Given the description of an element on the screen output the (x, y) to click on. 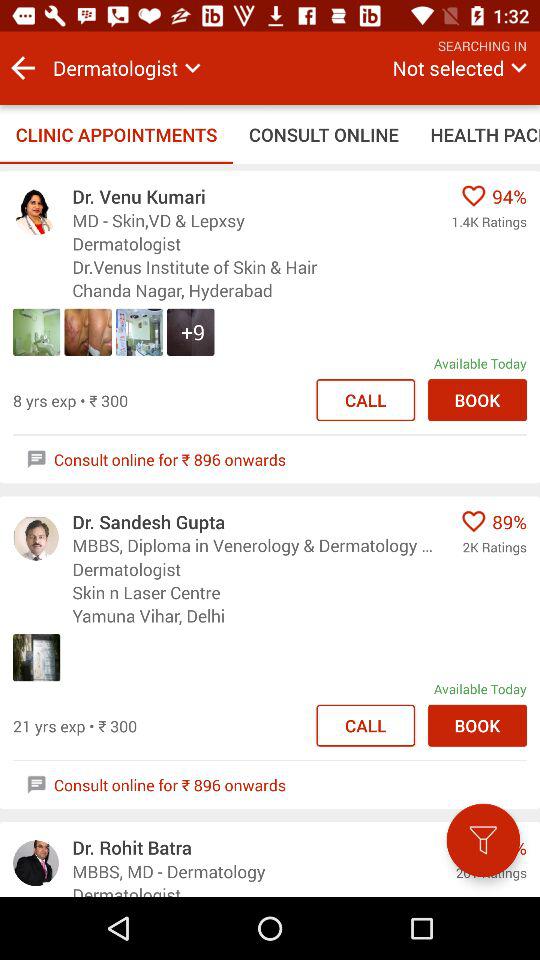
launch the icon next to the dr. rohit batra (483, 840)
